Given the description of an element on the screen output the (x, y) to click on. 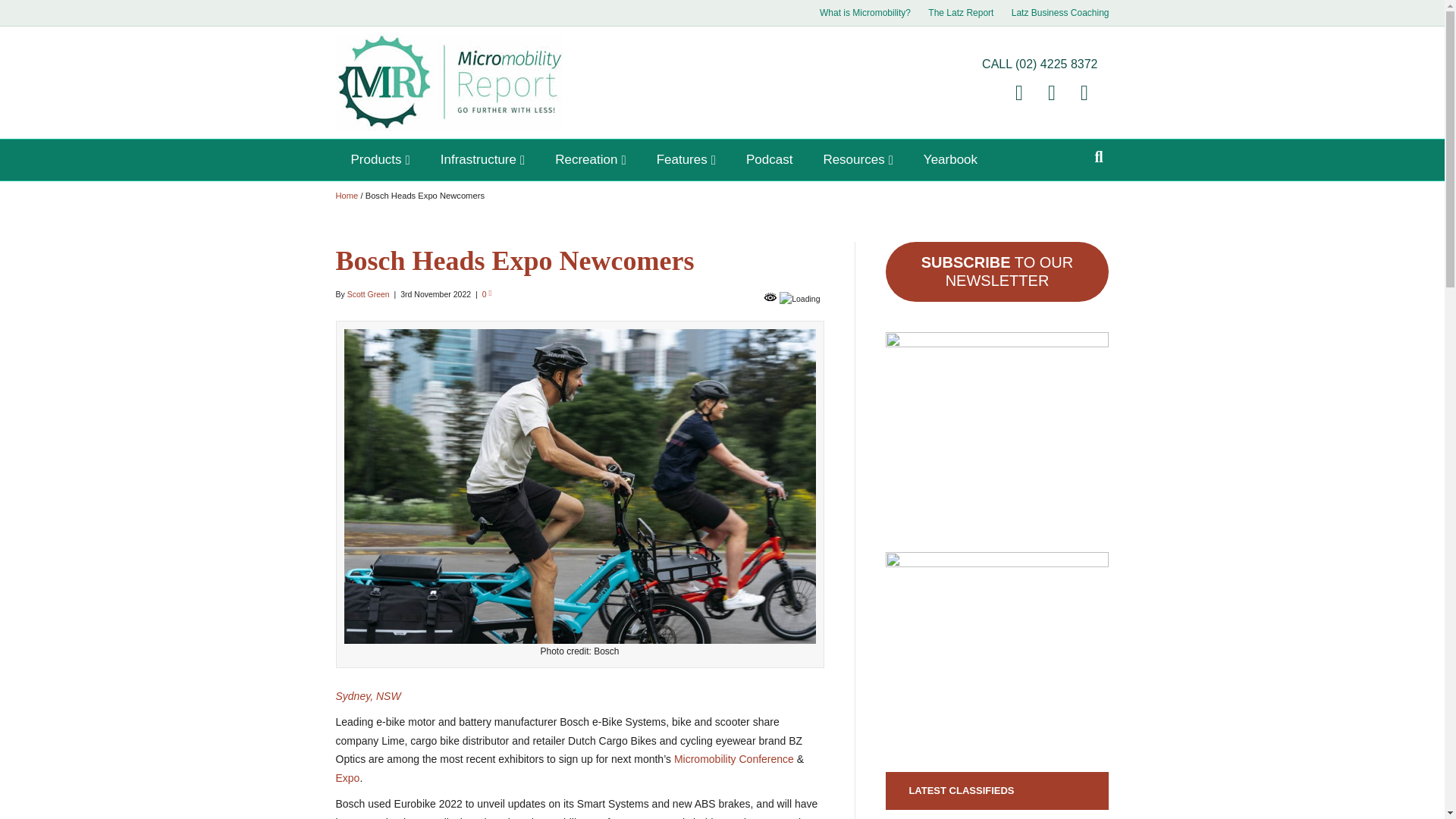
Micromobility Features (686, 159)
Micromobility Definition (865, 13)
Micromobility Infrastructure (482, 159)
